Given the description of an element on the screen output the (x, y) to click on. 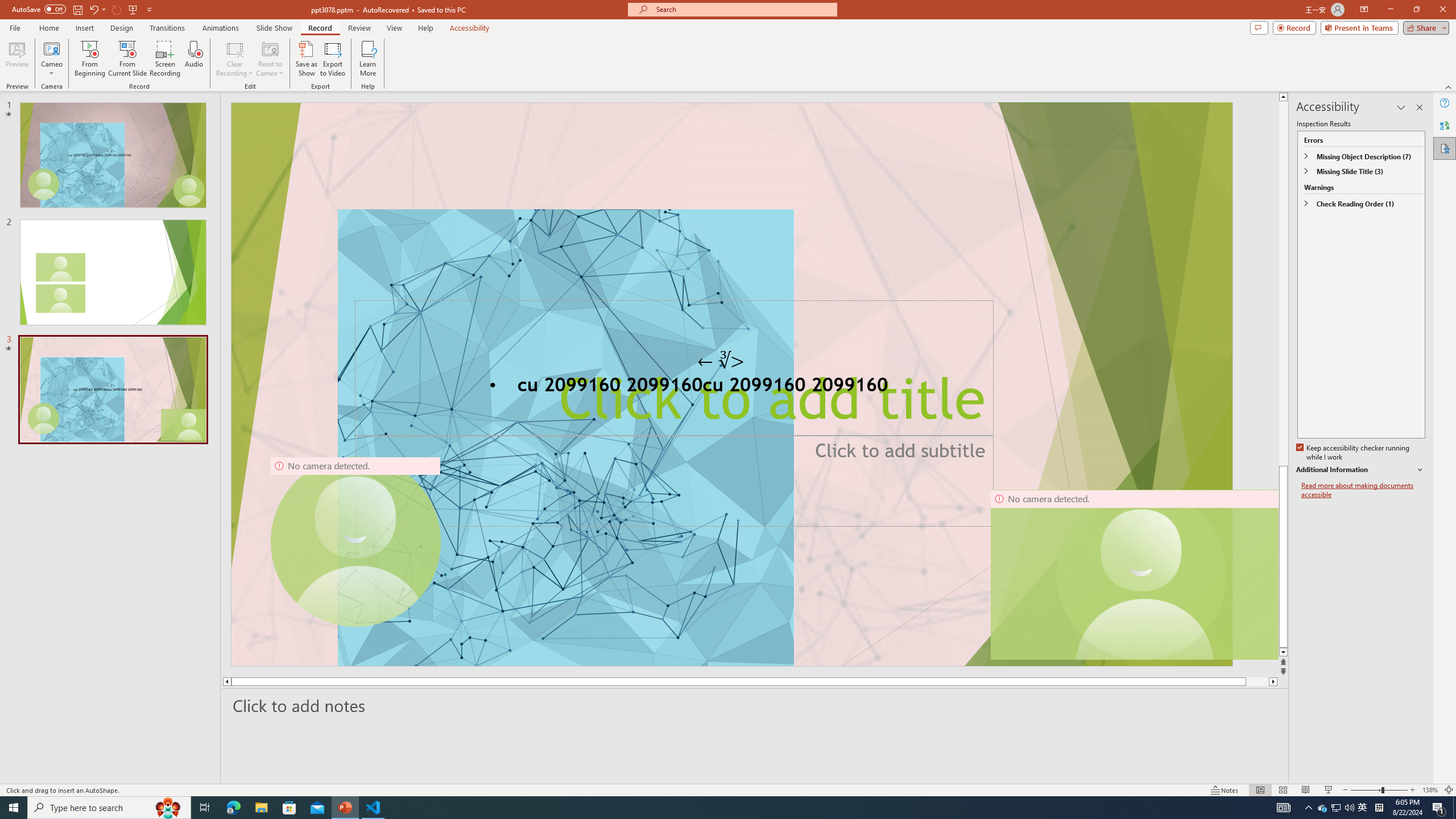
TextBox 61 (730, 386)
Additional Information (1360, 469)
Page up (1283, 283)
From Beginning... (89, 58)
